Given the description of an element on the screen output the (x, y) to click on. 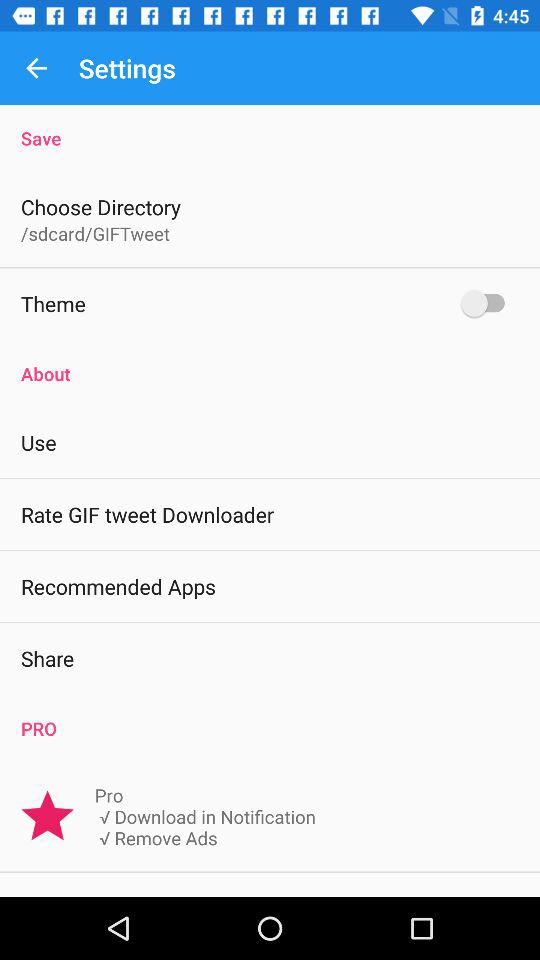
press app to the left of the settings (36, 68)
